Given the description of an element on the screen output the (x, y) to click on. 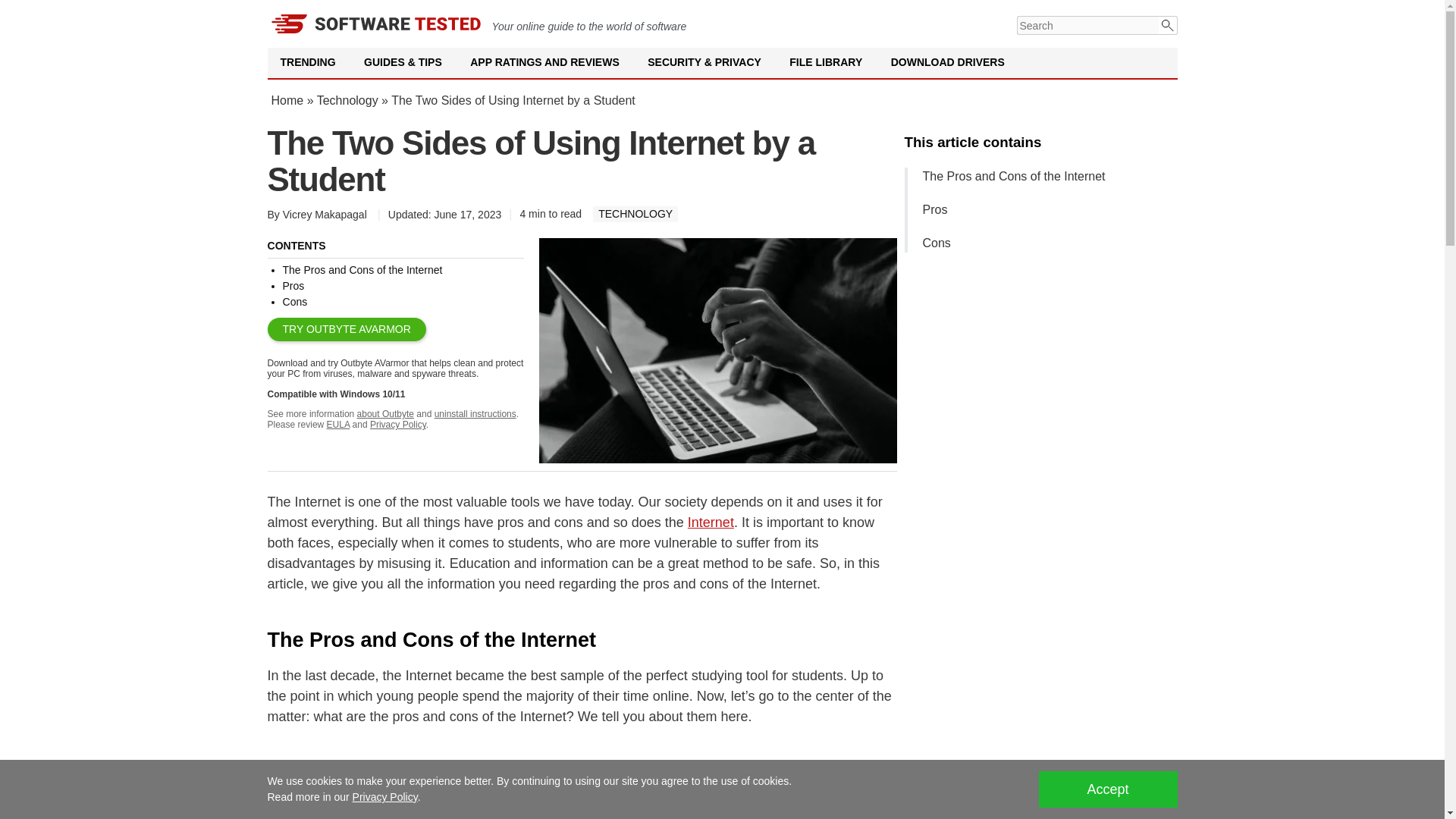
View all posts in Technology (635, 213)
FILE LIBRARY (825, 62)
TRENDING (308, 62)
DOWNLOAD DRIVERS (947, 62)
APP RATINGS AND REVIEWS (545, 62)
